Given the description of an element on the screen output the (x, y) to click on. 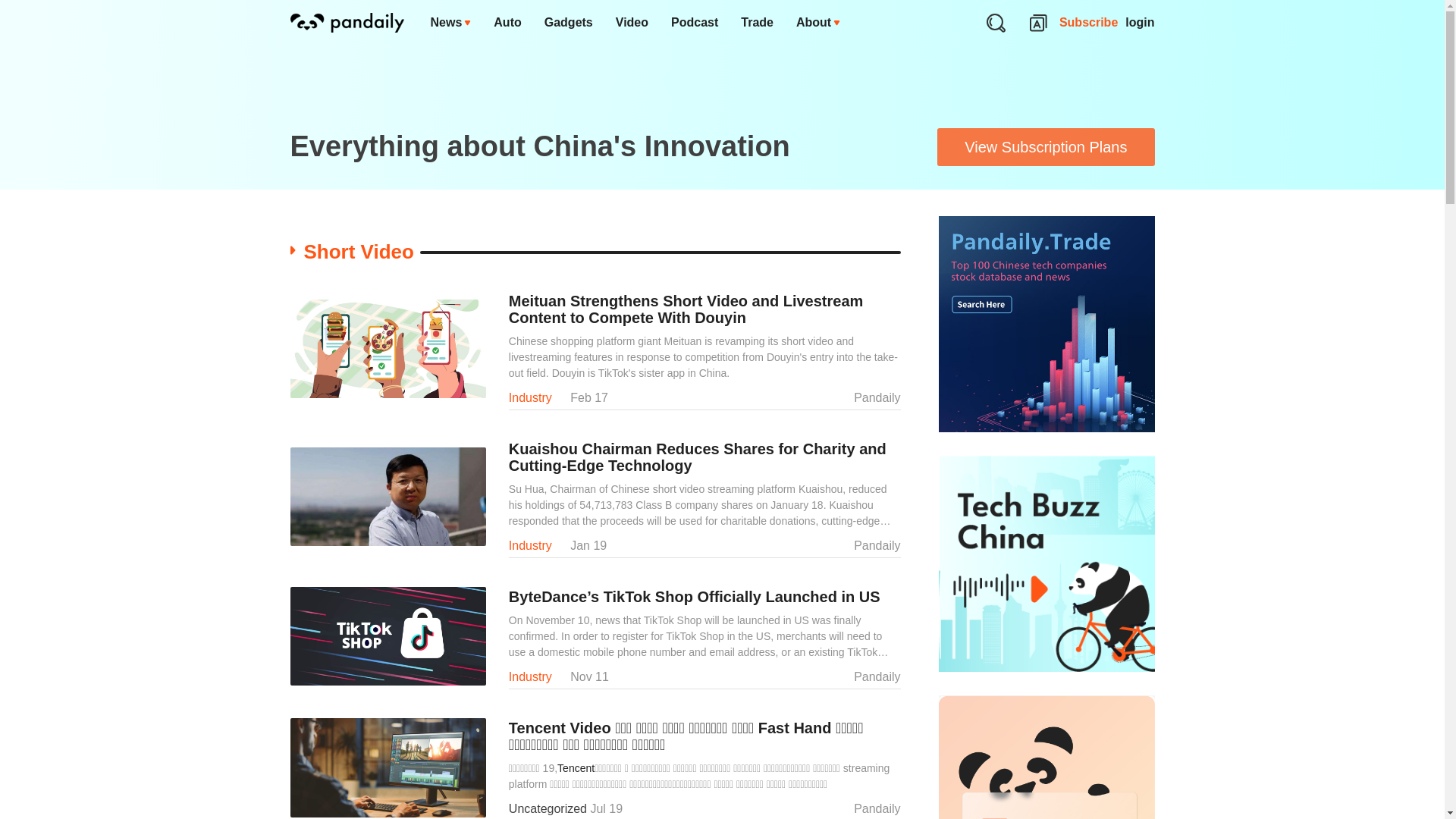
Subscribe (1088, 22)
About (817, 22)
View Subscription Plans (1045, 146)
login (1139, 22)
Podcast (694, 22)
Video (631, 22)
Industry (529, 397)
Auto (506, 22)
News (450, 22)
Industry (529, 545)
Gadgets (568, 22)
Trade (756, 22)
Feb 17 (589, 397)
